Given the description of an element on the screen output the (x, y) to click on. 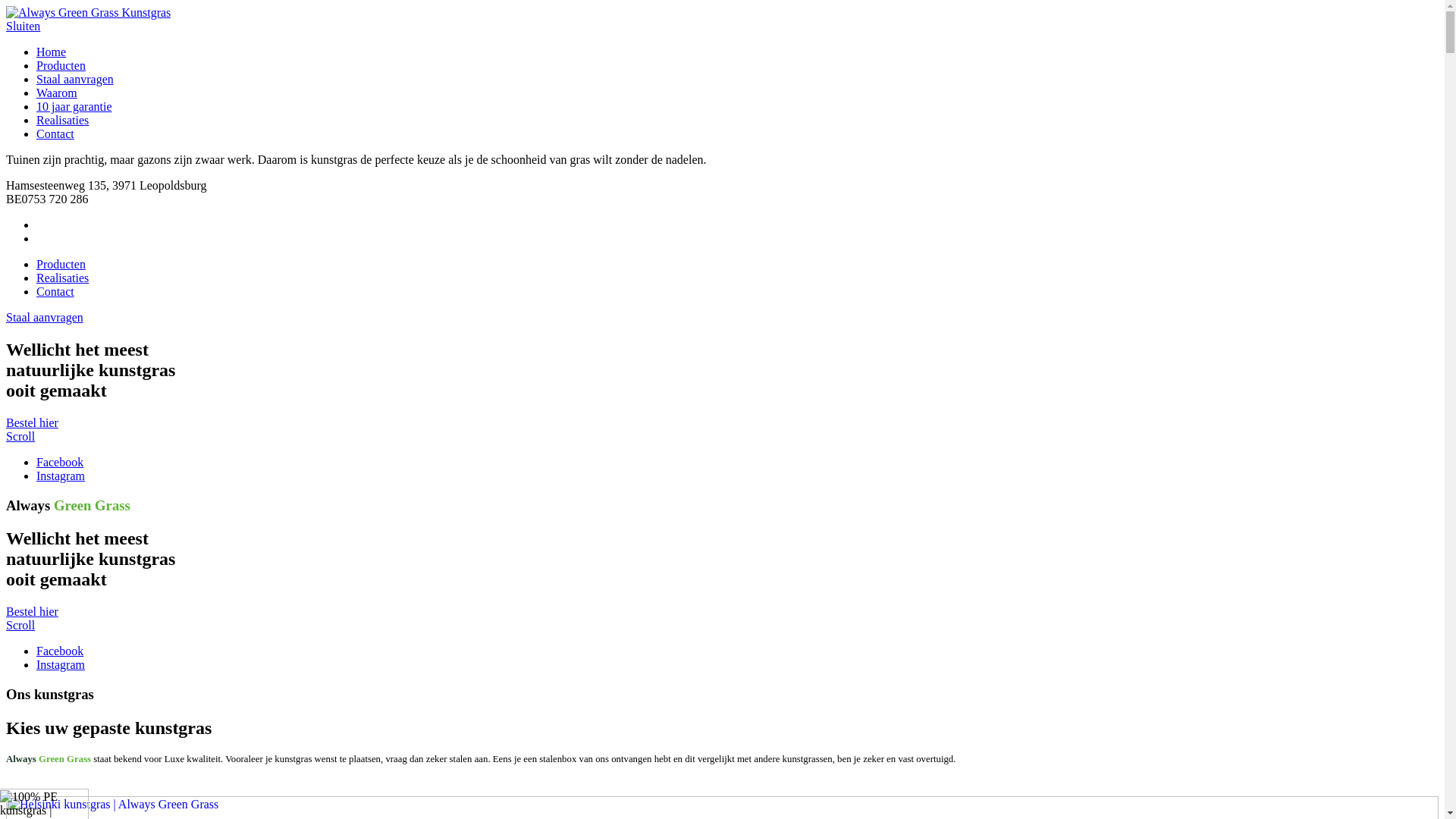
Sluiten Element type: text (23, 25)
Scroll Element type: text (20, 435)
Contact Element type: text (55, 133)
Contact Element type: text (55, 291)
Bestel hier Element type: text (32, 611)
Producten Element type: text (60, 65)
Instagram Element type: text (60, 664)
Scroll Element type: text (20, 624)
10 jaar garantie Element type: text (74, 106)
Producten Element type: text (60, 263)
Instagram Element type: text (60, 475)
Facebook Element type: text (59, 461)
Waarom Element type: text (56, 92)
Realisaties Element type: text (62, 277)
Realisaties Element type: text (62, 119)
Bestel hier Element type: text (32, 422)
Facebook Element type: text (59, 650)
Staal aanvragen Element type: text (74, 78)
Home Element type: text (50, 51)
Staal aanvragen Element type: text (44, 316)
